Given the description of an element on the screen output the (x, y) to click on. 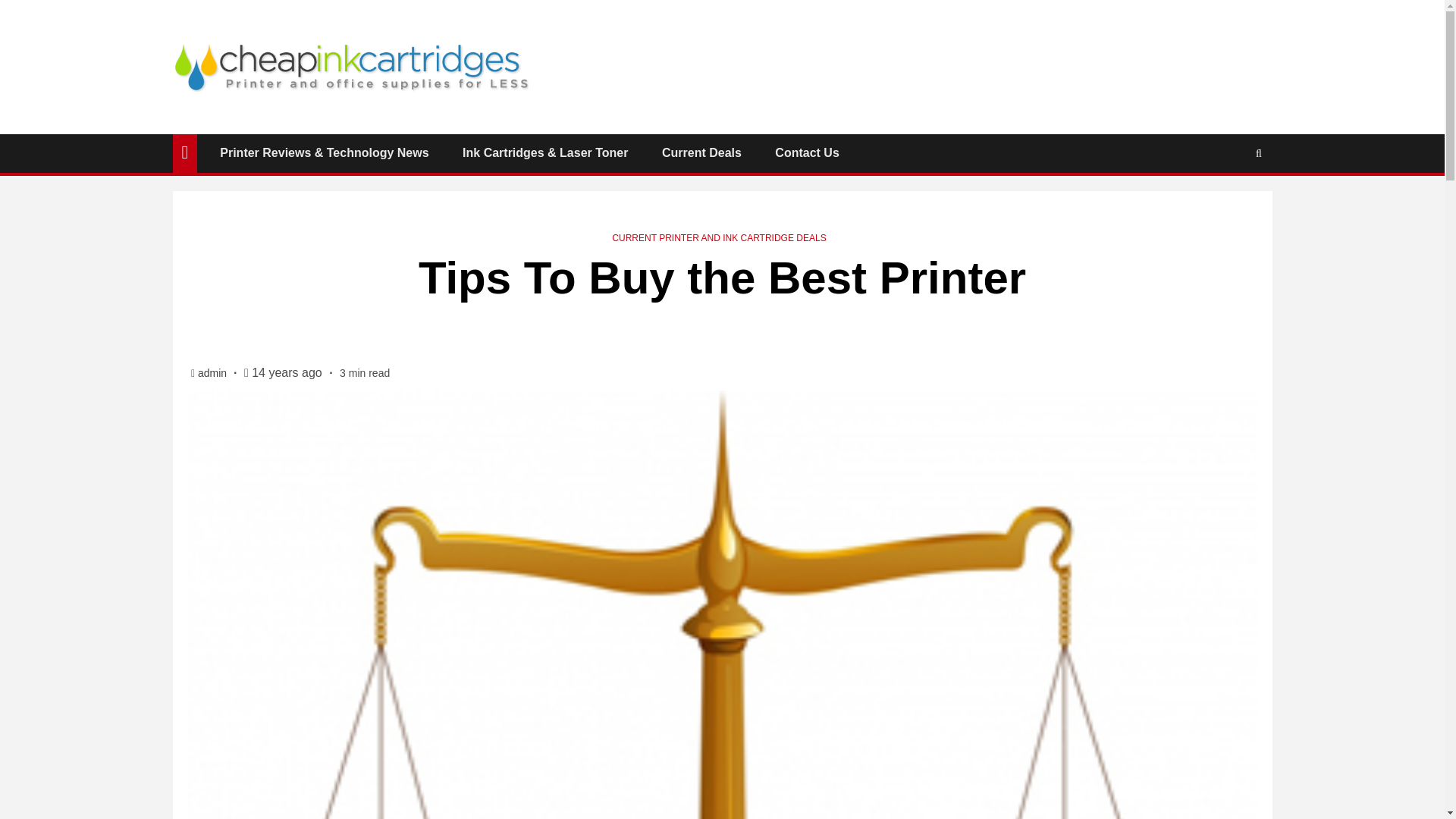
Current Deals (701, 152)
CURRENT PRINTER AND INK CARTRIDGE DEALS (718, 237)
admin (214, 372)
Contact Us (806, 152)
Search (1229, 199)
